Given the description of an element on the screen output the (x, y) to click on. 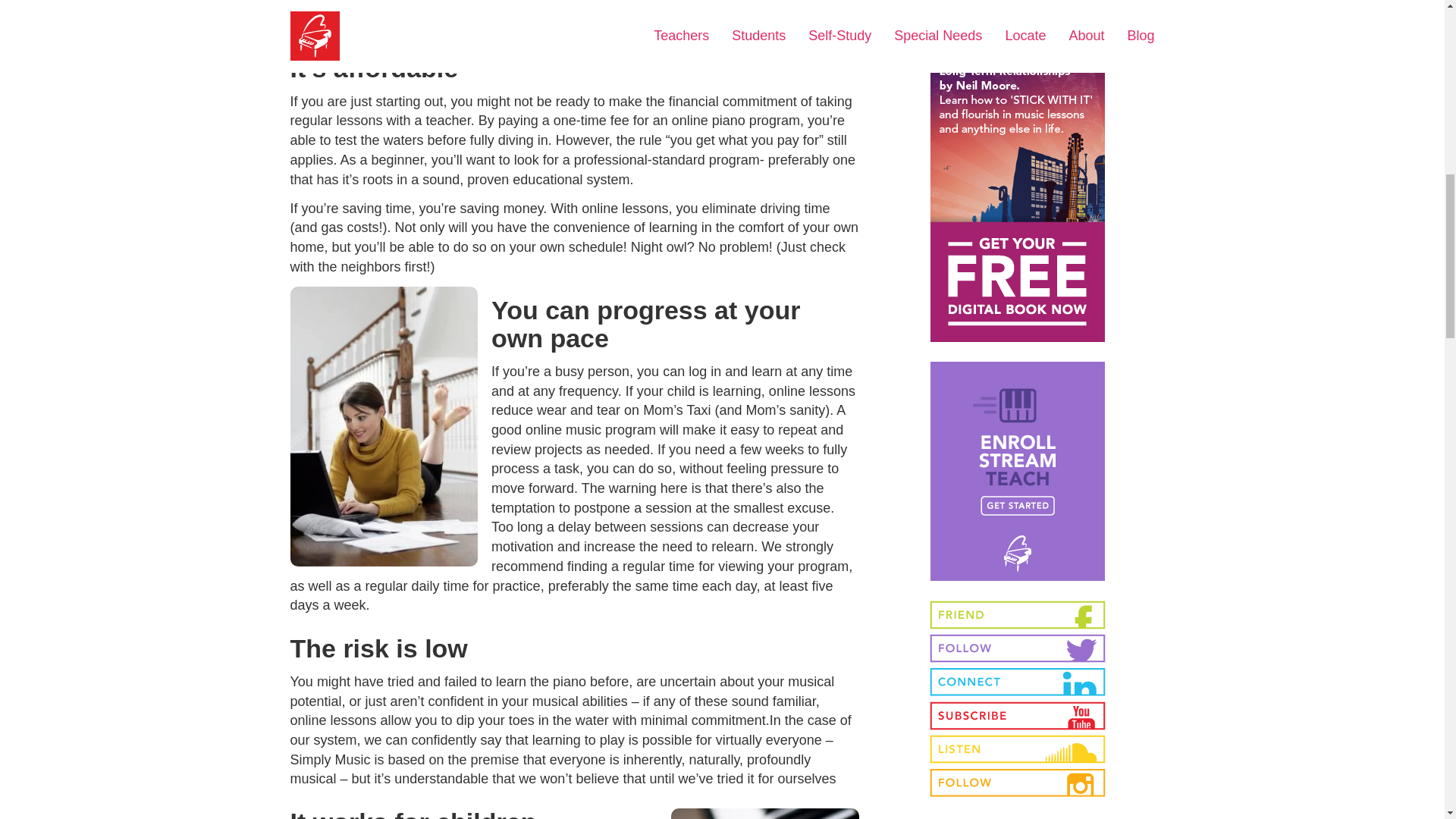
Learn more about becoming a teacher (1017, 479)
Simply Music on Facebook (1017, 614)
Simply Music on LinkedIn (1017, 681)
Simply Music on SoundCloud (1017, 748)
Simply Music on Twitter (1017, 647)
Simply Music on YouTube (1017, 715)
